Given the description of an element on the screen output the (x, y) to click on. 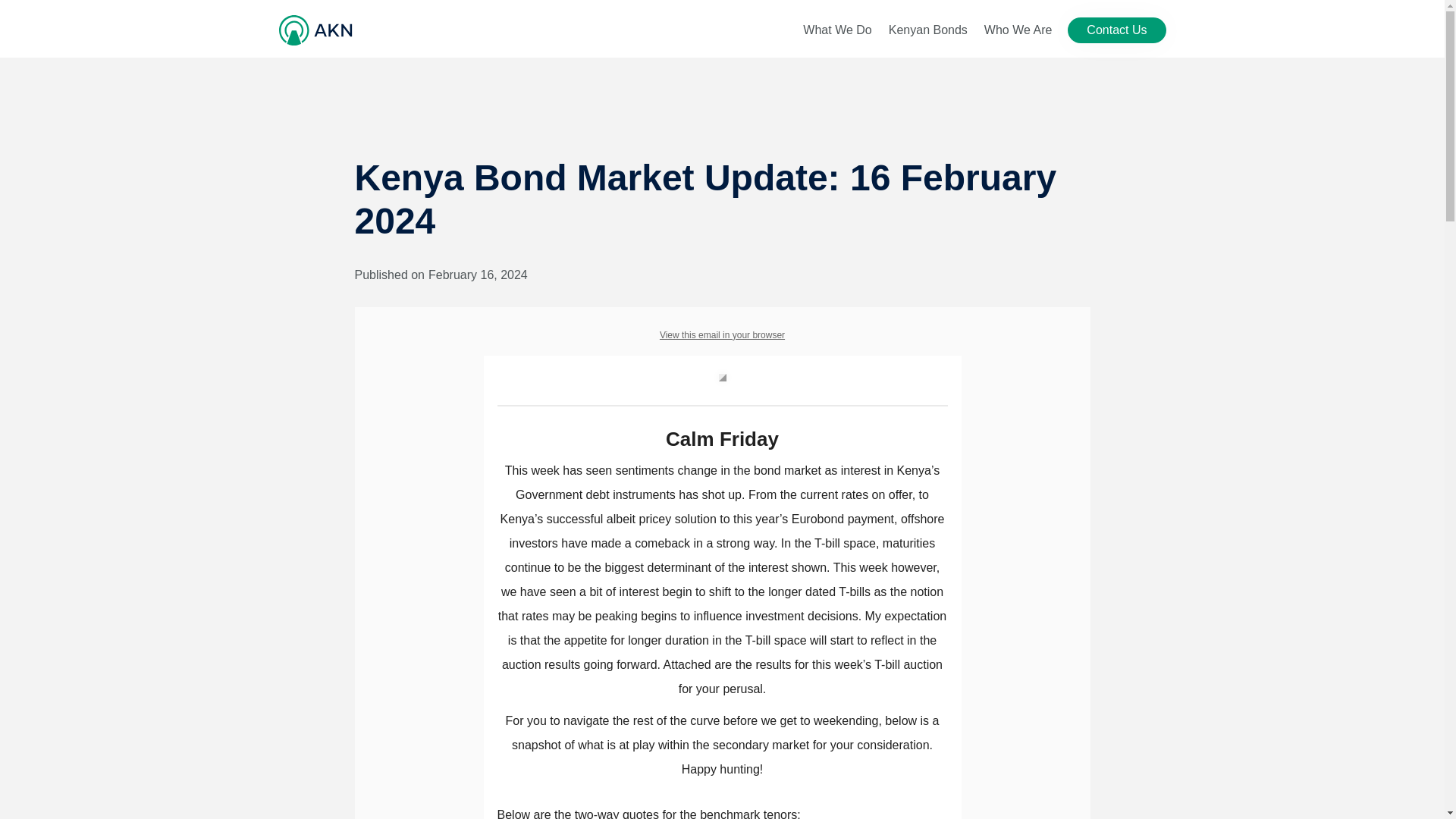
Who We Are (1018, 30)
Kenyan Bonds (927, 30)
Contact Us (1116, 30)
What We Do (836, 30)
View this email in your browser (721, 335)
